Given the description of an element on the screen output the (x, y) to click on. 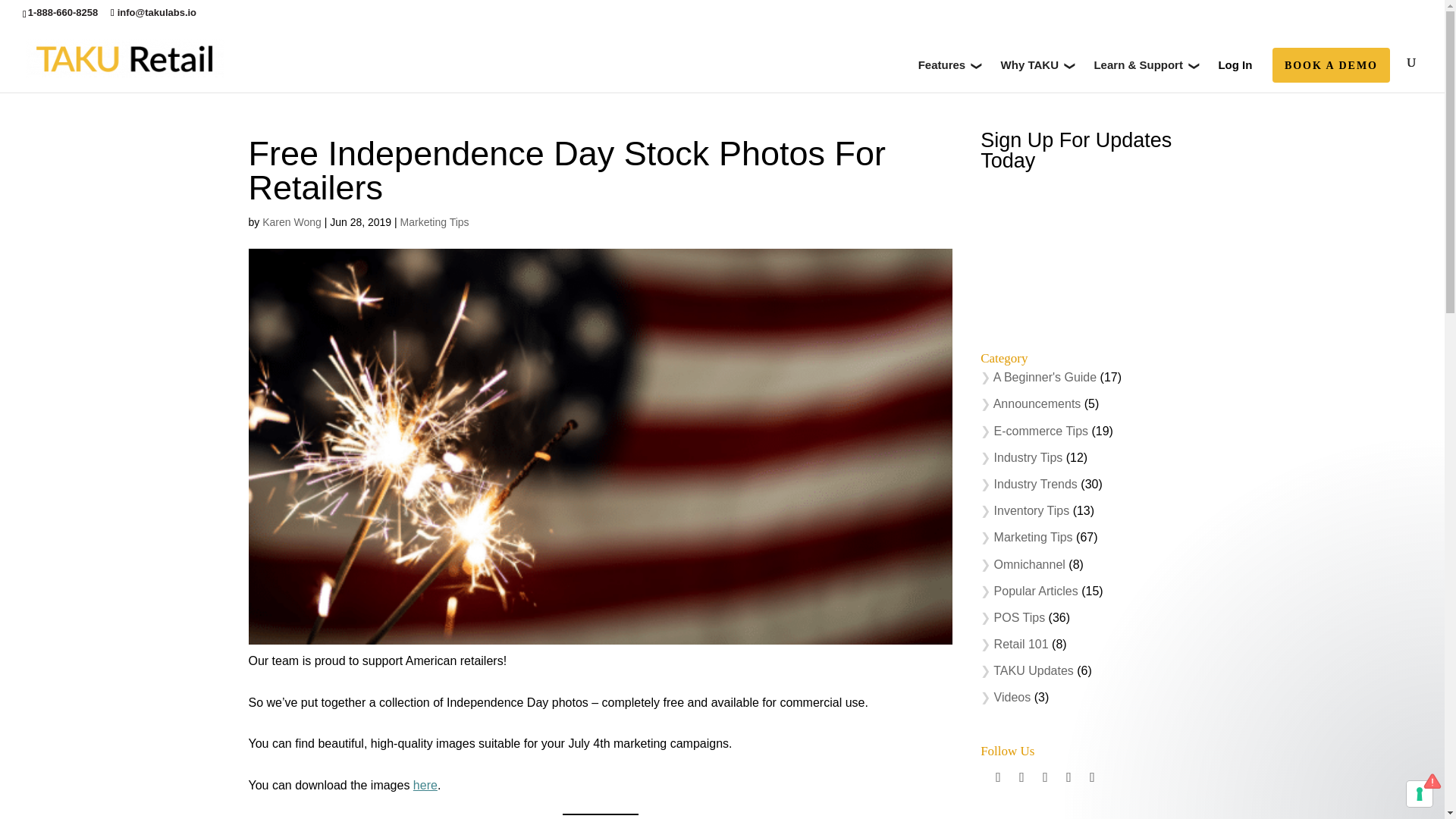
Features (949, 74)
Posts by Karen Wong (291, 222)
Intercom live chat message (1300, 732)
1-888-660-8258 (63, 12)
BOOK A DEMO (1330, 76)
Form 1 (1087, 253)
Why TAKU (1037, 74)
Log In (1234, 74)
